Given the description of an element on the screen output the (x, y) to click on. 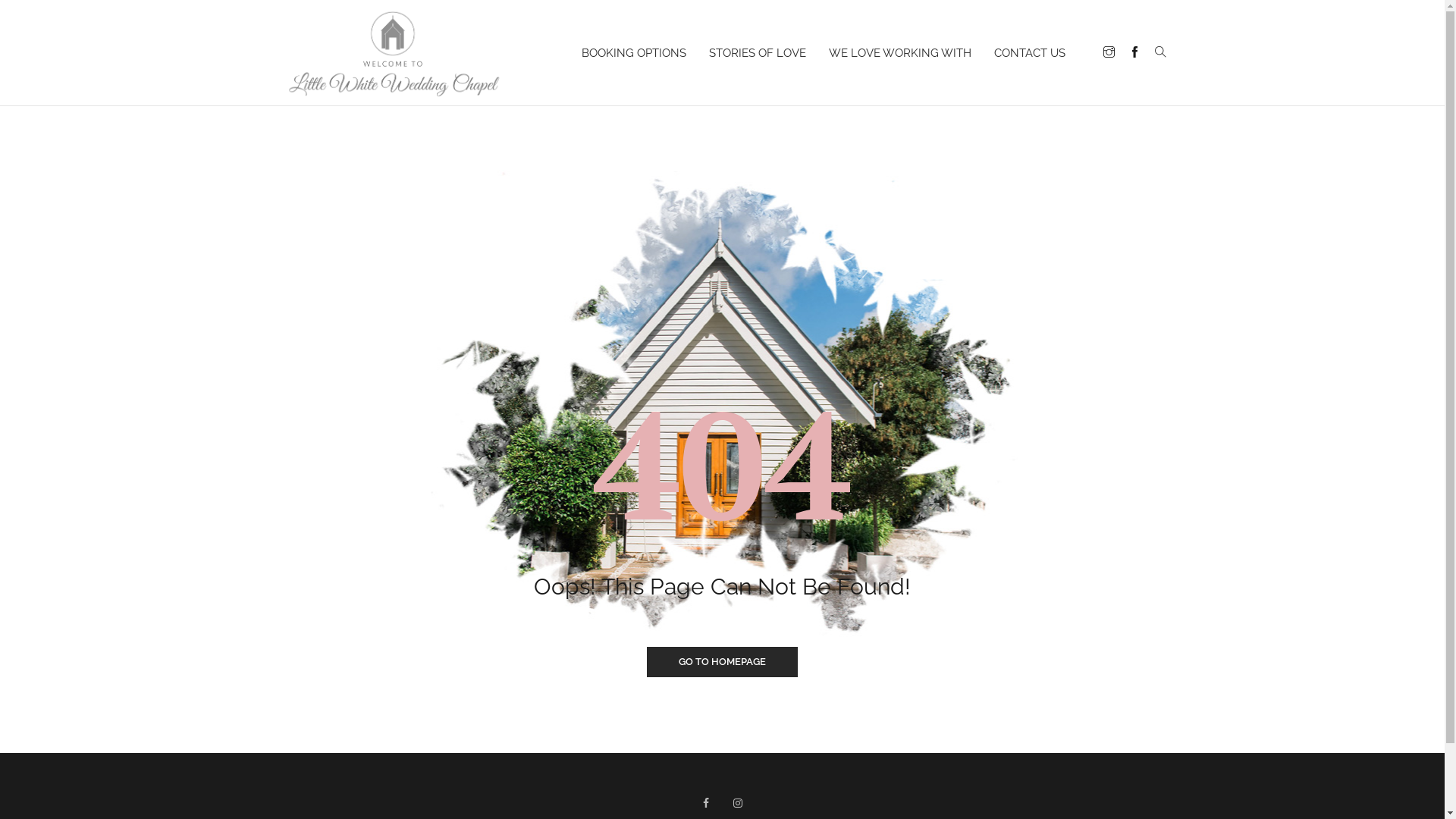
BOOKING OPTIONS Element type: text (636, 51)
WE LOVE WORKING WITH Element type: text (903, 51)
STORIES OF LOVE Element type: text (760, 51)
CONTACT US Element type: text (1032, 51)
Home Element type: hover (392, 46)
Instagram Element type: hover (738, 802)
Facebook Element type: hover (706, 802)
GO TO HOMEPAGE Element type: text (721, 661)
